Given the description of an element on the screen output the (x, y) to click on. 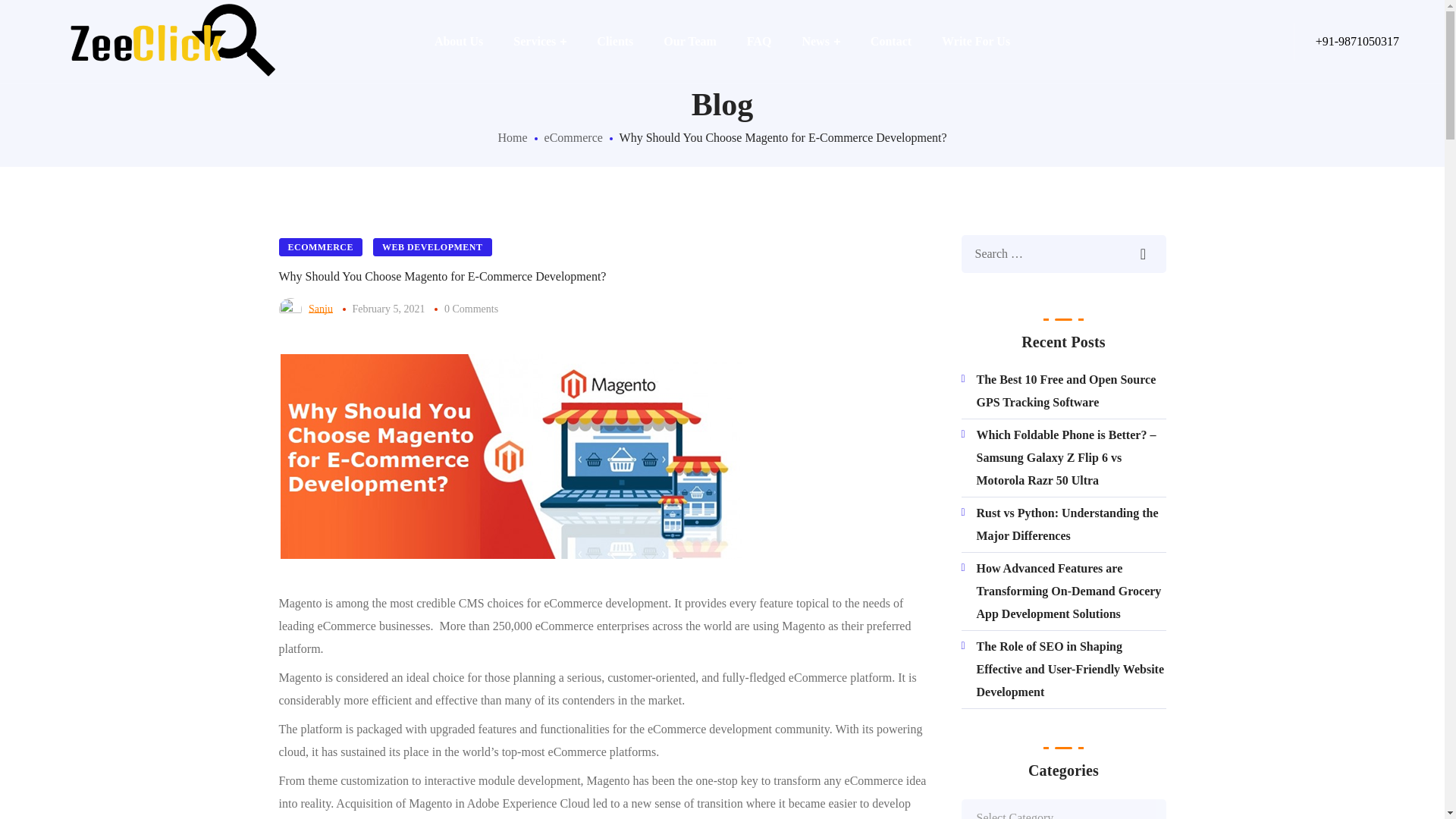
Write For Us (975, 41)
Our Team (689, 41)
About Us (458, 41)
Services (538, 41)
